Given the description of an element on the screen output the (x, y) to click on. 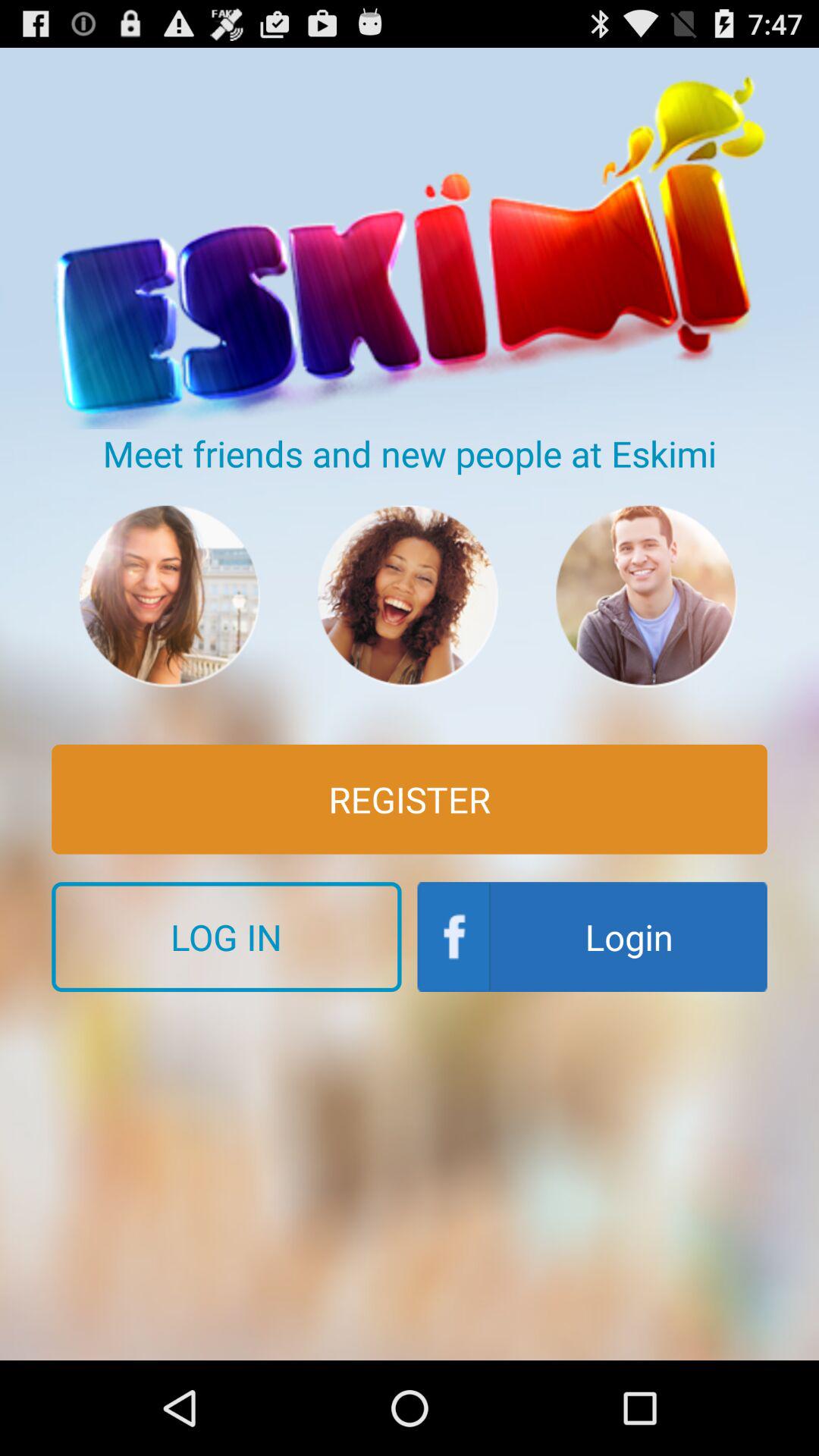
select the register (409, 799)
